Given the description of an element on the screen output the (x, y) to click on. 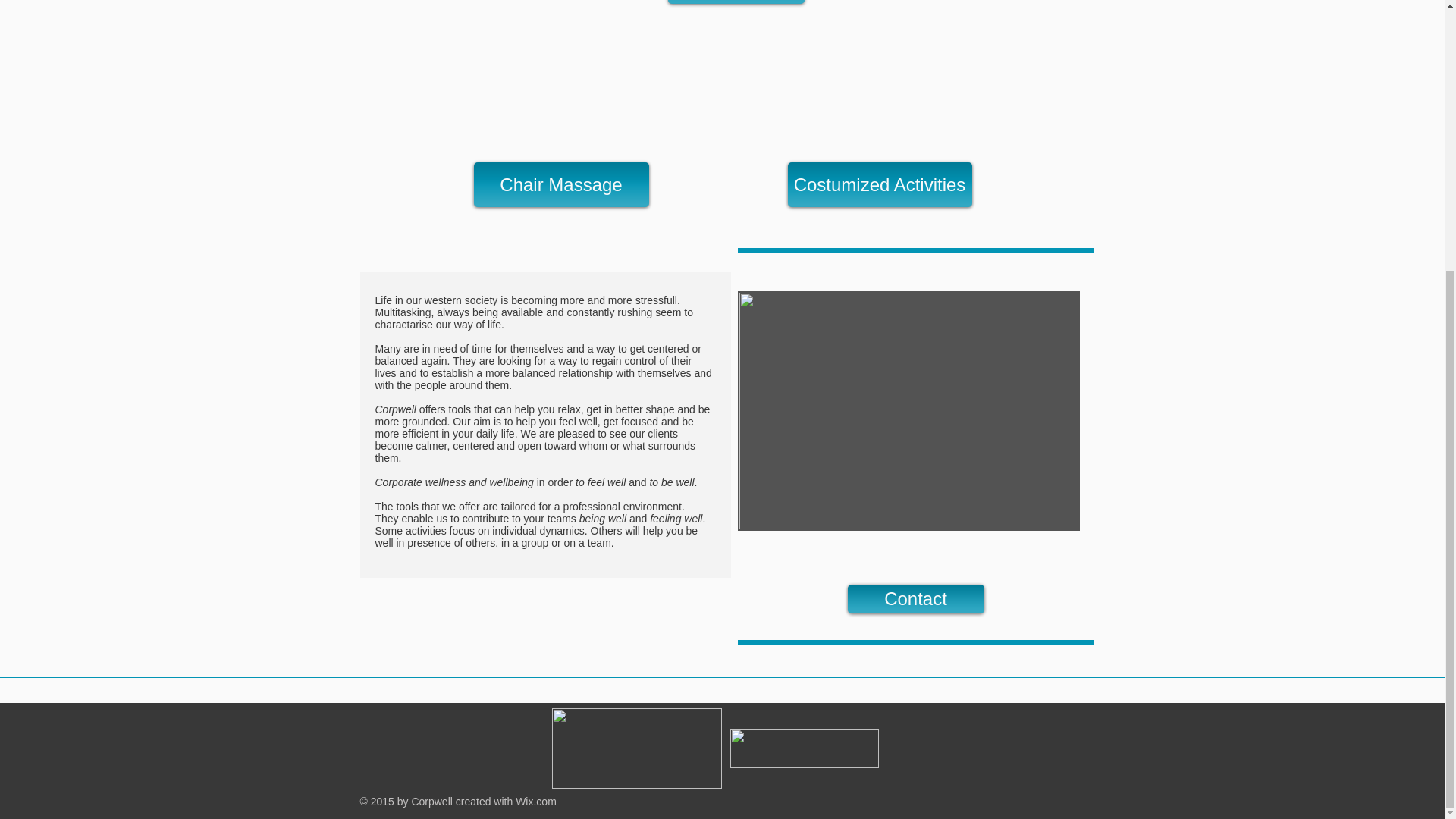
Wix.com (535, 801)
Contact (915, 598)
LEARN MORE (734, 2)
Costumized Activities (879, 184)
Chair Massage (560, 184)
